Given the description of an element on the screen output the (x, y) to click on. 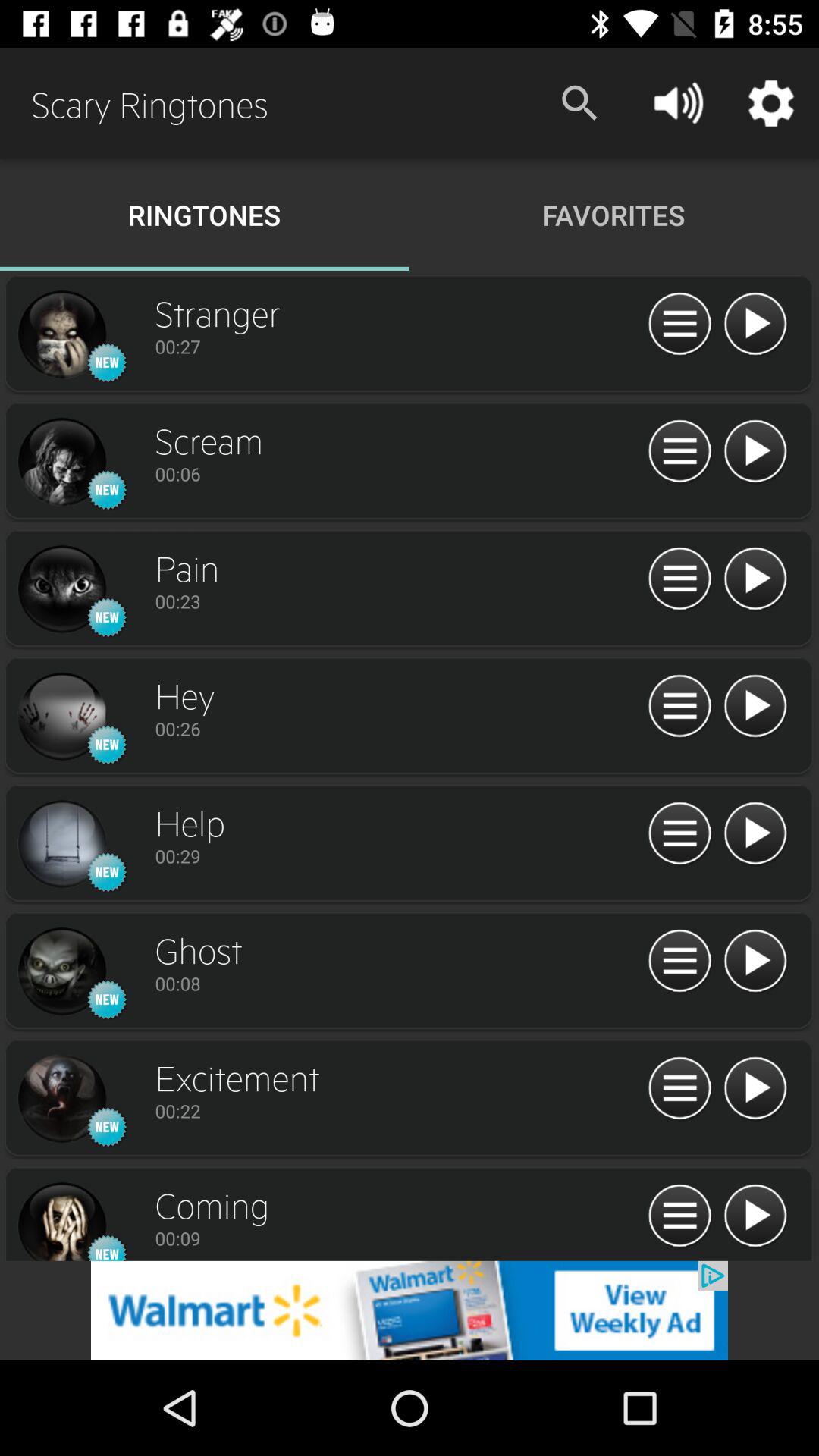
select menu (679, 961)
